Given the description of an element on the screen output the (x, y) to click on. 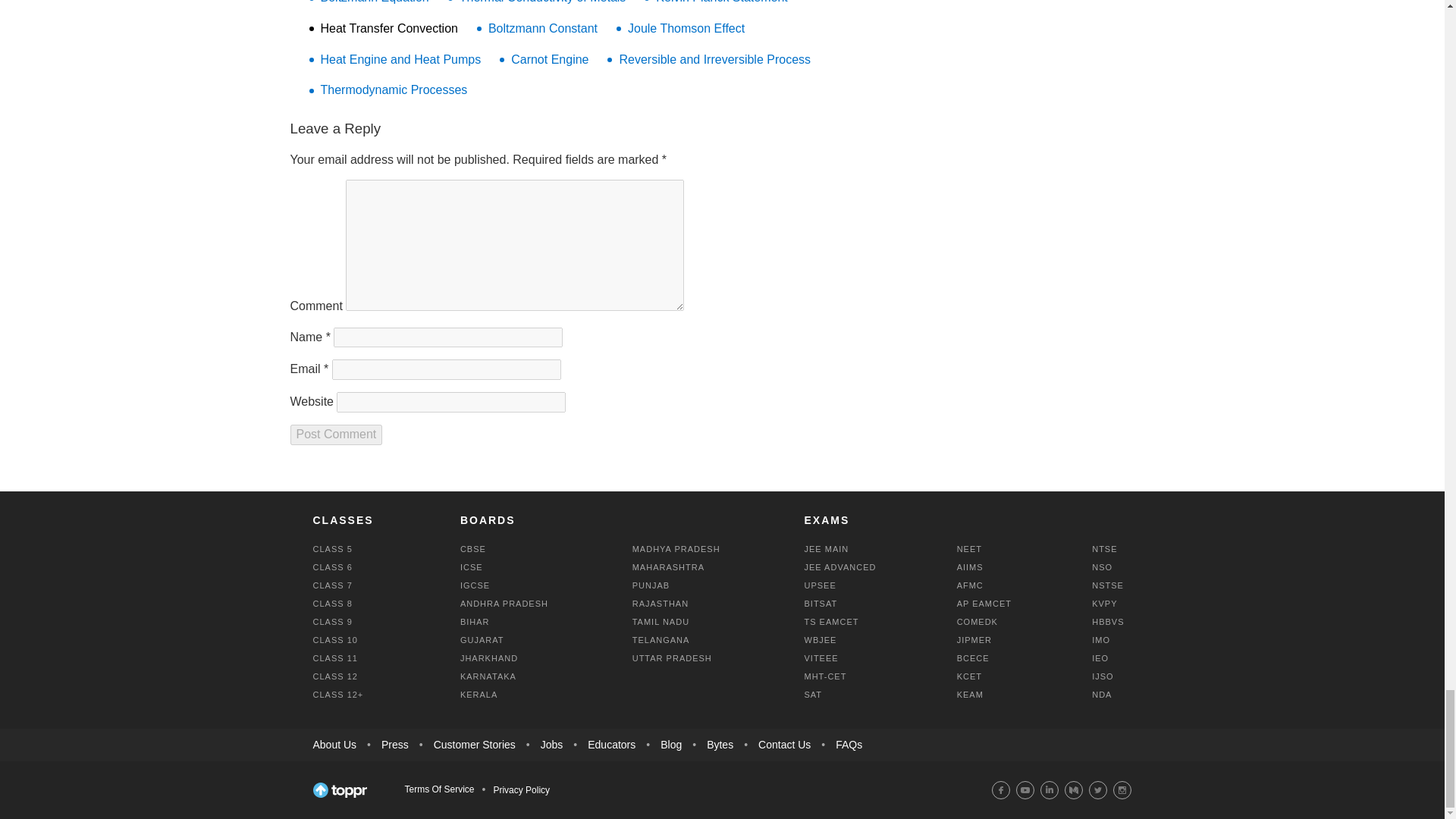
Post Comment (335, 435)
Class 6 (332, 566)
Class 5 (332, 548)
Class 7 (332, 584)
